Given the description of an element on the screen output the (x, y) to click on. 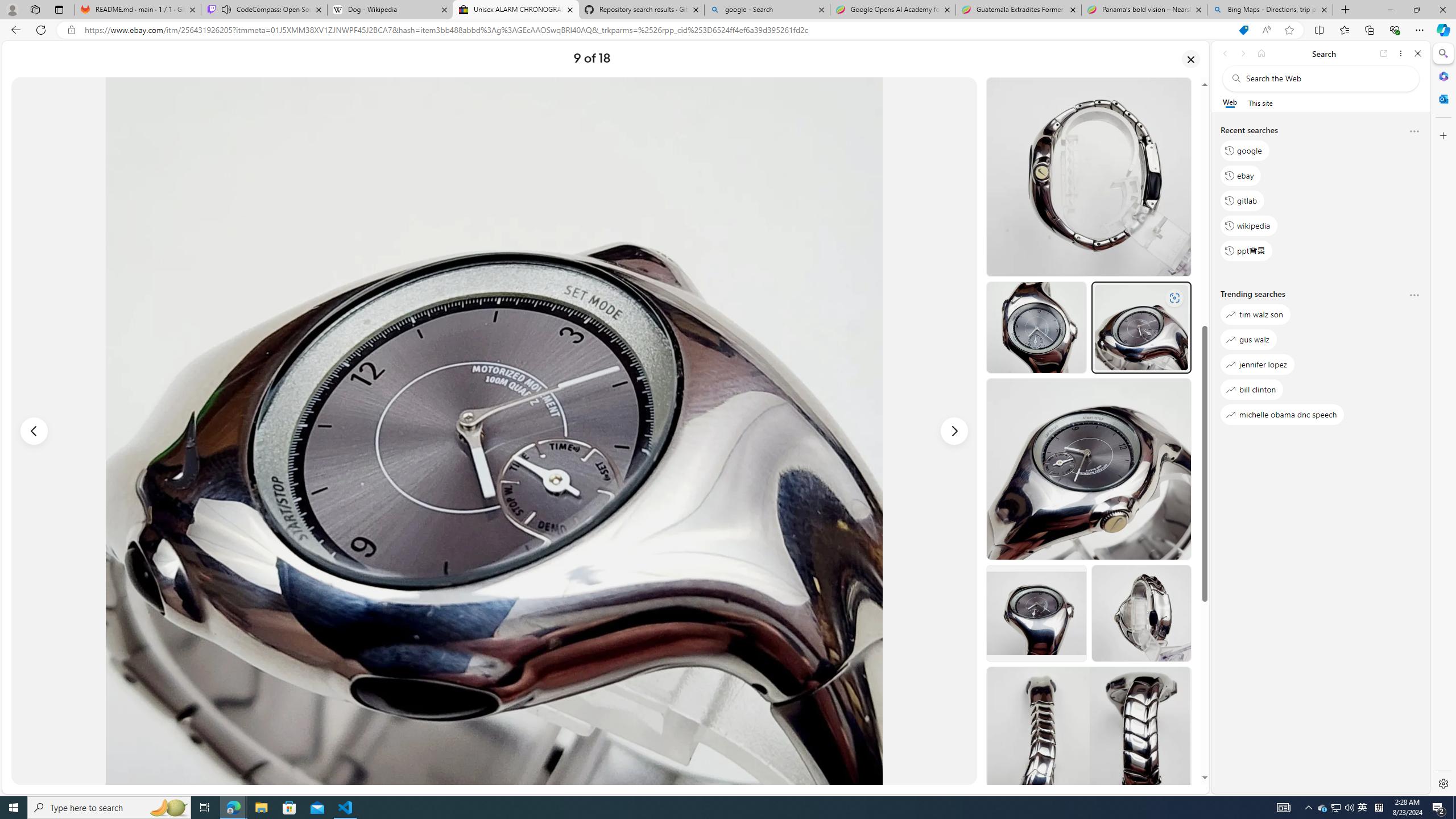
michelle obama dnc speech (1281, 414)
ebay (1240, 175)
